Given the description of an element on the screen output the (x, y) to click on. 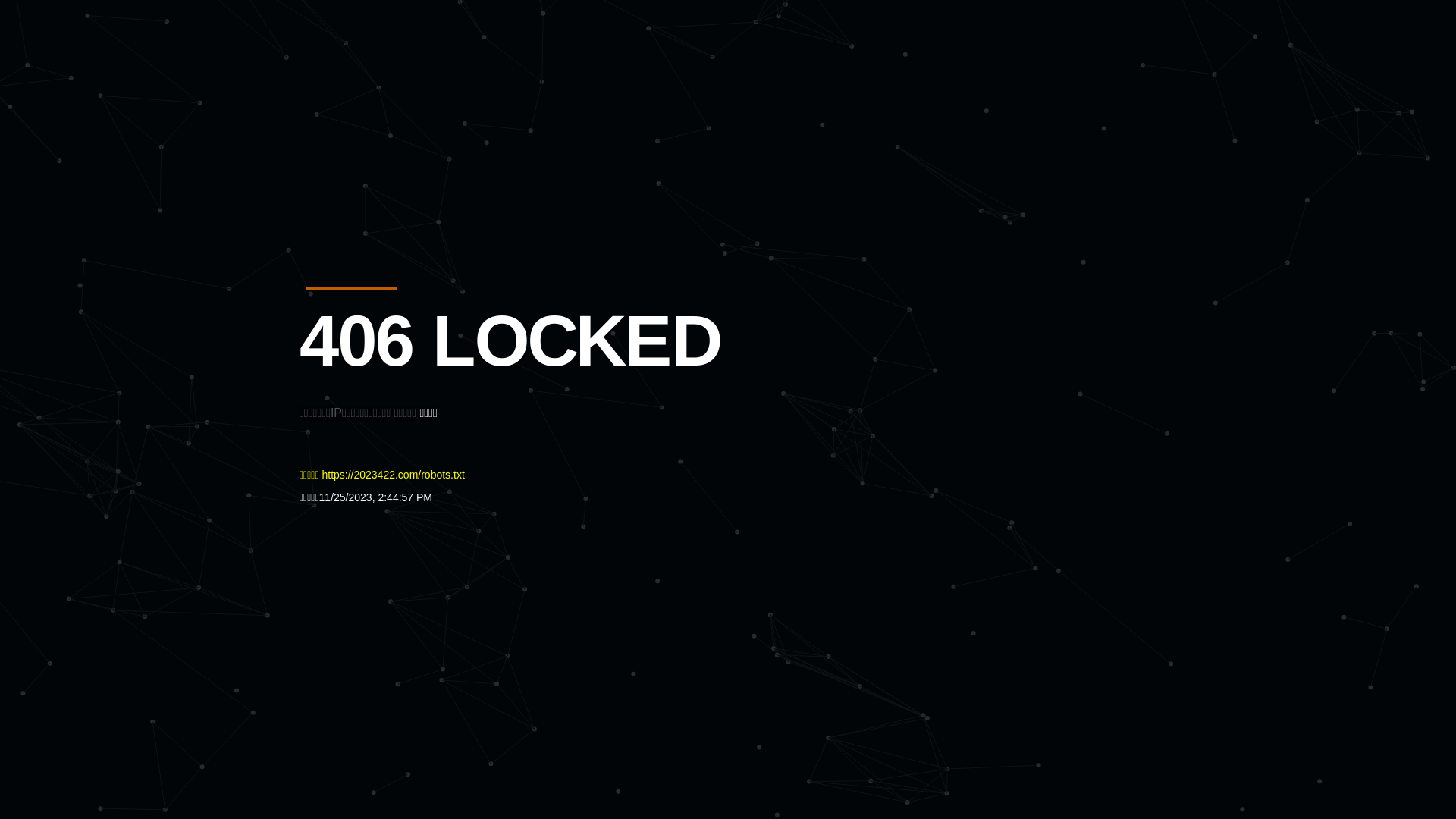
Quatro Element type: text (410, 86)
